Given the description of an element on the screen output the (x, y) to click on. 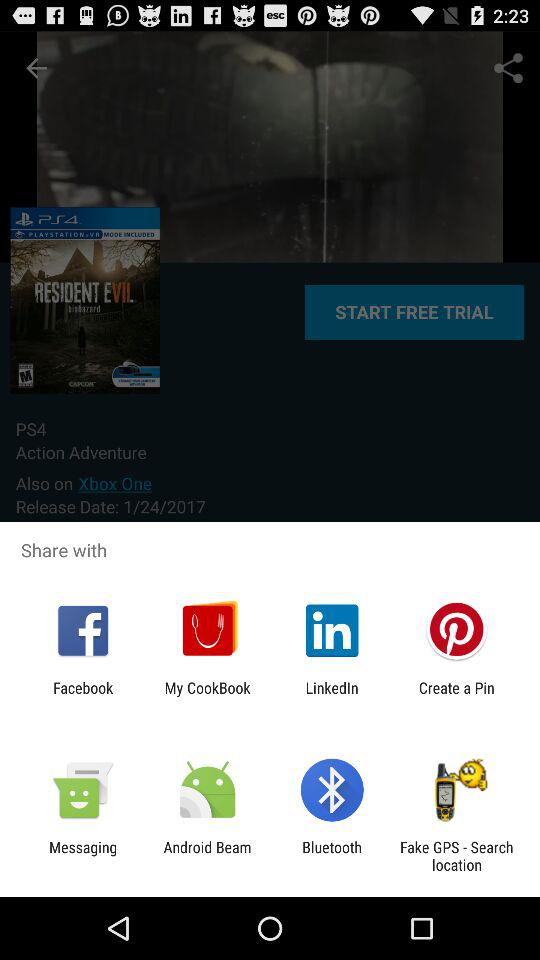
turn off the item to the left of the android beam item (83, 856)
